Given the description of an element on the screen output the (x, y) to click on. 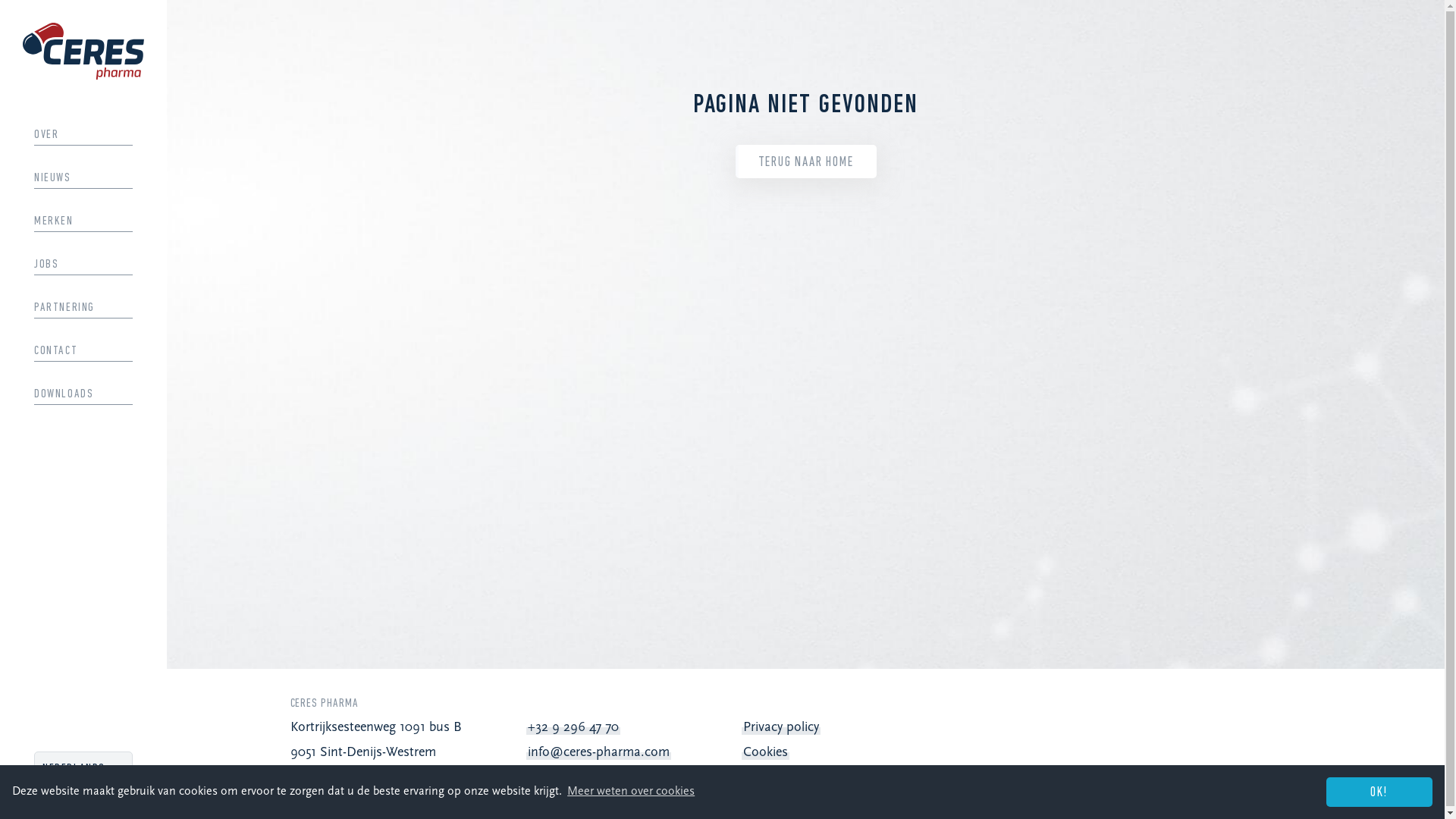
Privacy policy Element type: text (781, 727)
JOBS Element type: text (83, 264)
General terms and conditions of sale Element type: text (848, 776)
info@ceres-pharma.com Element type: text (598, 752)
Site by Esign Element type: text (1423, 788)
+32 9 296 47 70 Element type: text (572, 727)
PARTNERING Element type: text (83, 307)
CONTACT Element type: text (83, 350)
Meer weten over cookies Element type: text (630, 791)
TERUG NAAR HOME Element type: text (805, 161)
OVER Element type: text (83, 134)
NIEUWS Element type: text (83, 178)
DOWNLOADS Element type: text (83, 394)
MERKEN Element type: text (83, 221)
OK! Element type: text (1379, 791)
Cookies Element type: text (765, 752)
